Given the description of an element on the screen output the (x, y) to click on. 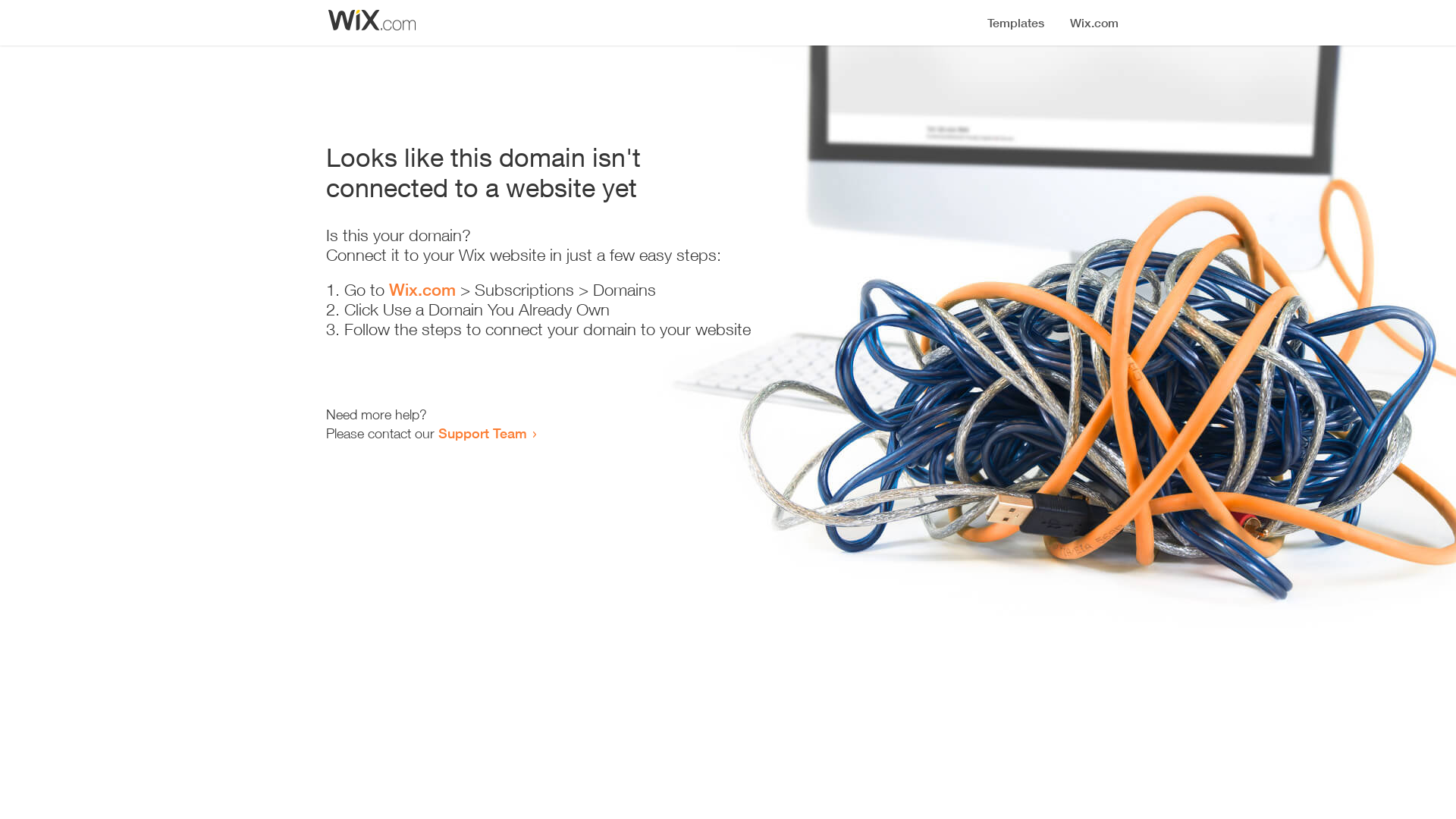
Support Team Element type: text (482, 432)
Wix.com Element type: text (422, 289)
